Given the description of an element on the screen output the (x, y) to click on. 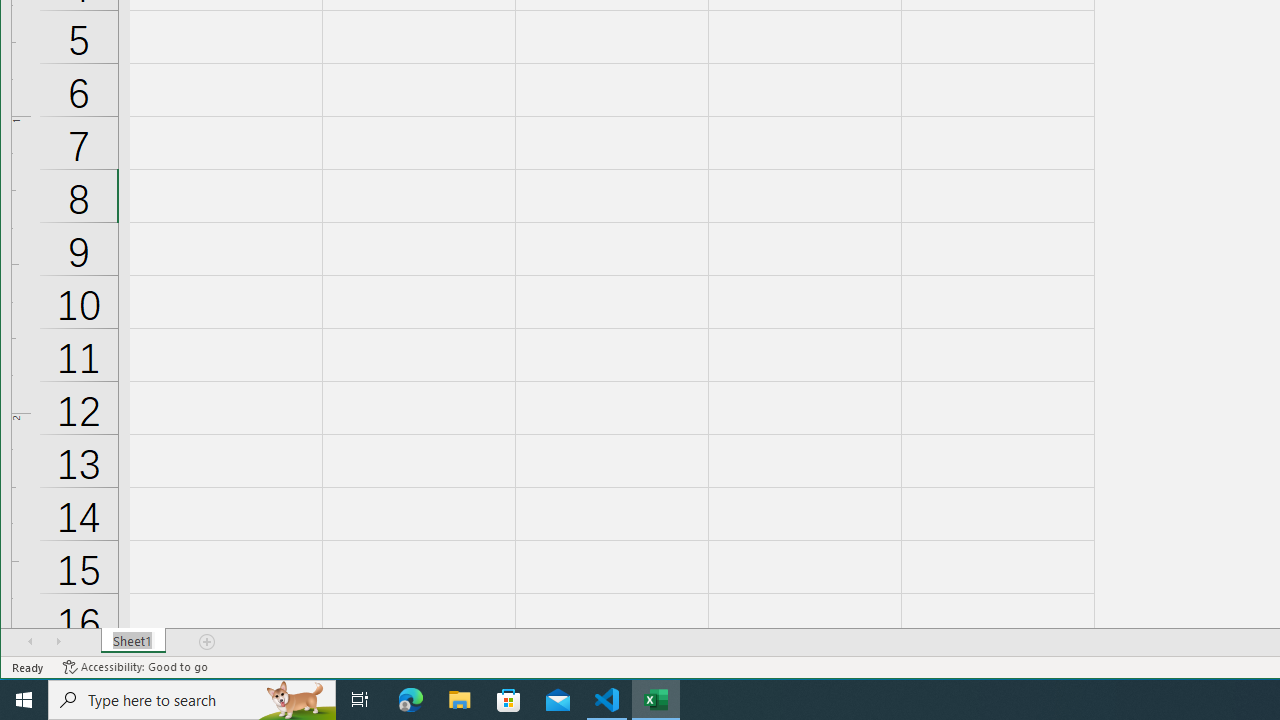
Task View (359, 699)
Microsoft Store (509, 699)
Type here to search (191, 699)
File Explorer (460, 699)
Microsoft Edge (411, 699)
Start (24, 699)
Excel - 1 running window (656, 699)
Sheet Tab (133, 641)
Search highlights icon opens search home window (295, 699)
